Given the description of an element on the screen output the (x, y) to click on. 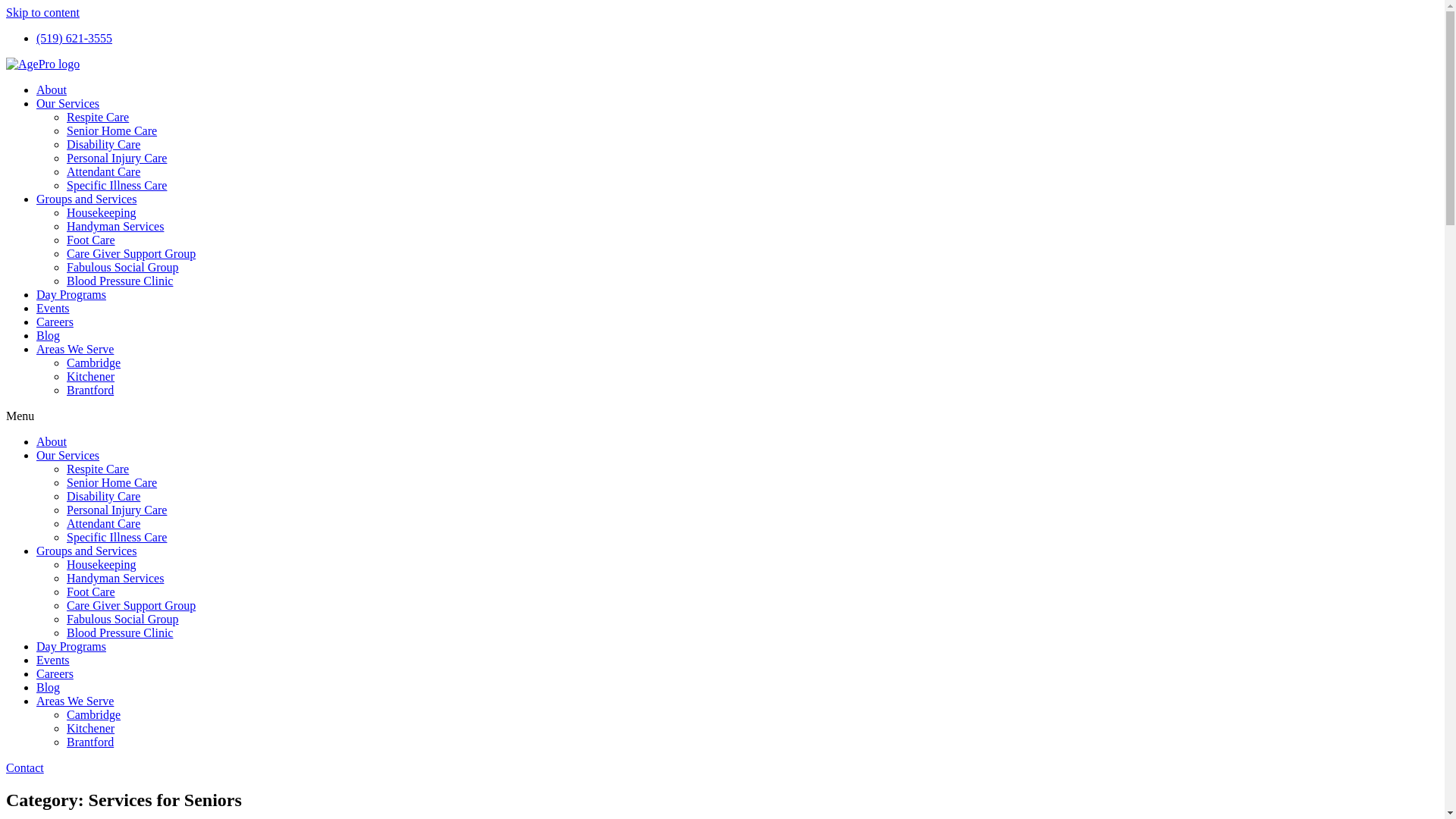
Care Giver Support Group Element type: text (130, 253)
Housekeeping Element type: text (101, 212)
(519) 621-3555 Element type: text (74, 37)
Foot Care Element type: text (90, 591)
Disability Care Element type: text (103, 495)
Blood Pressure Clinic Element type: text (119, 632)
Specific Illness Care Element type: text (116, 536)
Kitchener Element type: text (90, 727)
Events Element type: text (52, 307)
Brantford Element type: text (89, 389)
Respite Care Element type: text (97, 468)
Attendant Care Element type: text (103, 523)
Kitchener Element type: text (90, 376)
Personal Injury Care Element type: text (116, 157)
Events Element type: text (52, 659)
Our Services Element type: text (67, 103)
Day Programs Element type: text (71, 294)
Housekeeping Element type: text (101, 564)
Groups and Services Element type: text (86, 550)
Areas We Serve Element type: text (74, 348)
Disability Care Element type: text (103, 144)
Cambridge Element type: text (93, 362)
Handyman Services Element type: text (114, 577)
About Element type: text (51, 89)
Areas We Serve Element type: text (74, 700)
Careers Element type: text (54, 673)
Blog Element type: text (47, 686)
Skip to content Element type: text (42, 12)
About Element type: text (51, 441)
Blog Element type: text (47, 335)
Fabulous Social Group Element type: text (122, 618)
Personal Injury Care Element type: text (116, 509)
Day Programs Element type: text (71, 646)
Respite Care Element type: text (97, 116)
Senior Home Care Element type: text (111, 130)
Blood Pressure Clinic Element type: text (119, 280)
Senior Home Care Element type: text (111, 482)
Careers Element type: text (54, 321)
Contact Element type: text (24, 767)
Care Giver Support Group Element type: text (130, 605)
Brantford Element type: text (89, 741)
Handyman Services Element type: text (114, 225)
Cambridge Element type: text (93, 714)
Foot Care Element type: text (90, 239)
Specific Illness Care Element type: text (116, 184)
Fabulous Social Group Element type: text (122, 266)
Groups and Services Element type: text (86, 198)
Attendant Care Element type: text (103, 171)
Our Services Element type: text (67, 454)
